Given the description of an element on the screen output the (x, y) to click on. 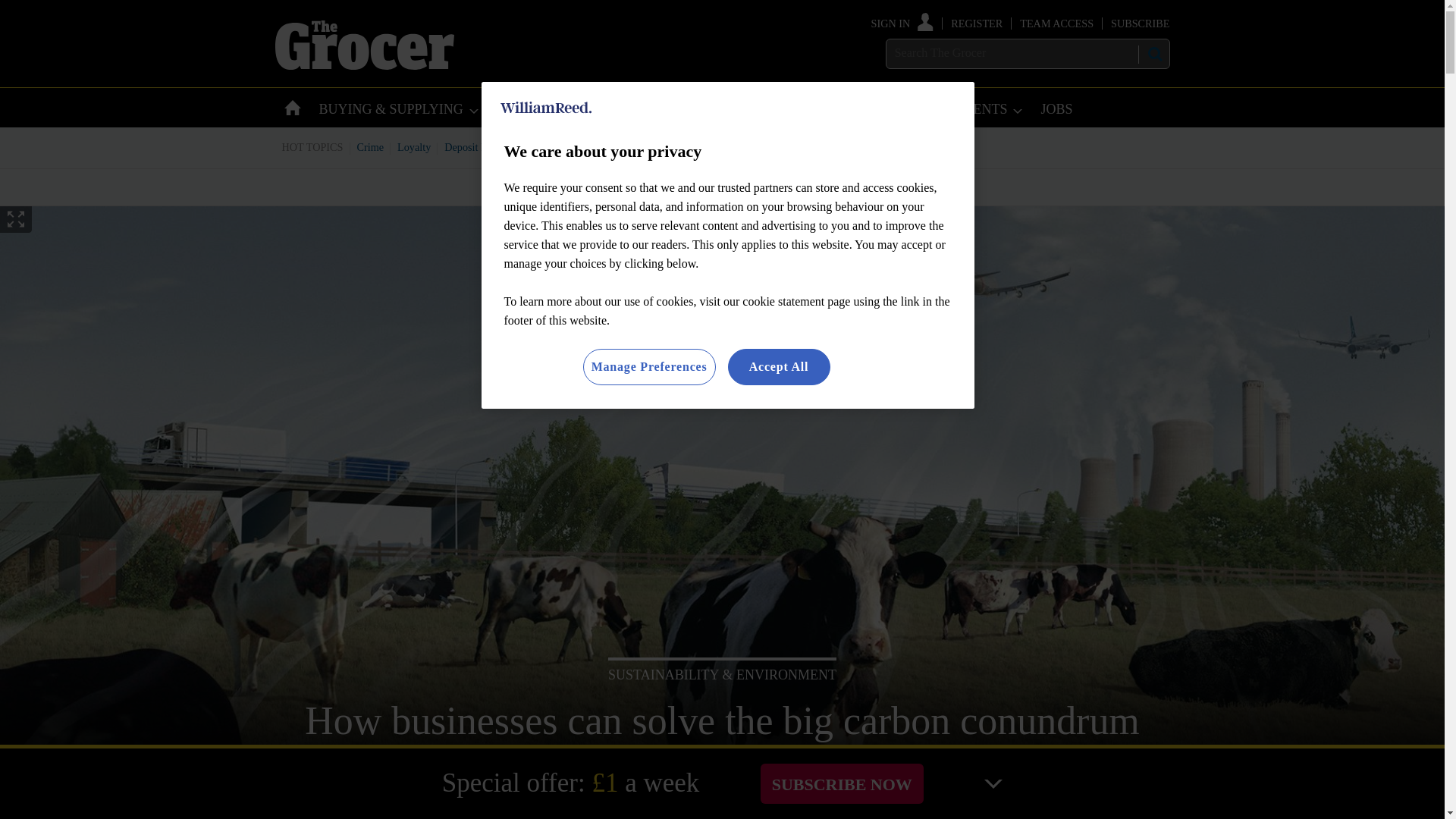
SUBSCRIBE NOW (841, 783)
Vaping (774, 146)
SUBSCRIBE (1139, 23)
TEAM ACCESS (1056, 23)
KVI price tracker (602, 146)
Cost of Living Crisis (699, 146)
Crime (370, 146)
Site name (363, 65)
William Reed (545, 107)
Loyalty (414, 146)
SEARCH (1153, 53)
SIGN IN (902, 23)
Deposit Return Schemes (497, 146)
REGISTER (976, 23)
